Given the description of an element on the screen output the (x, y) to click on. 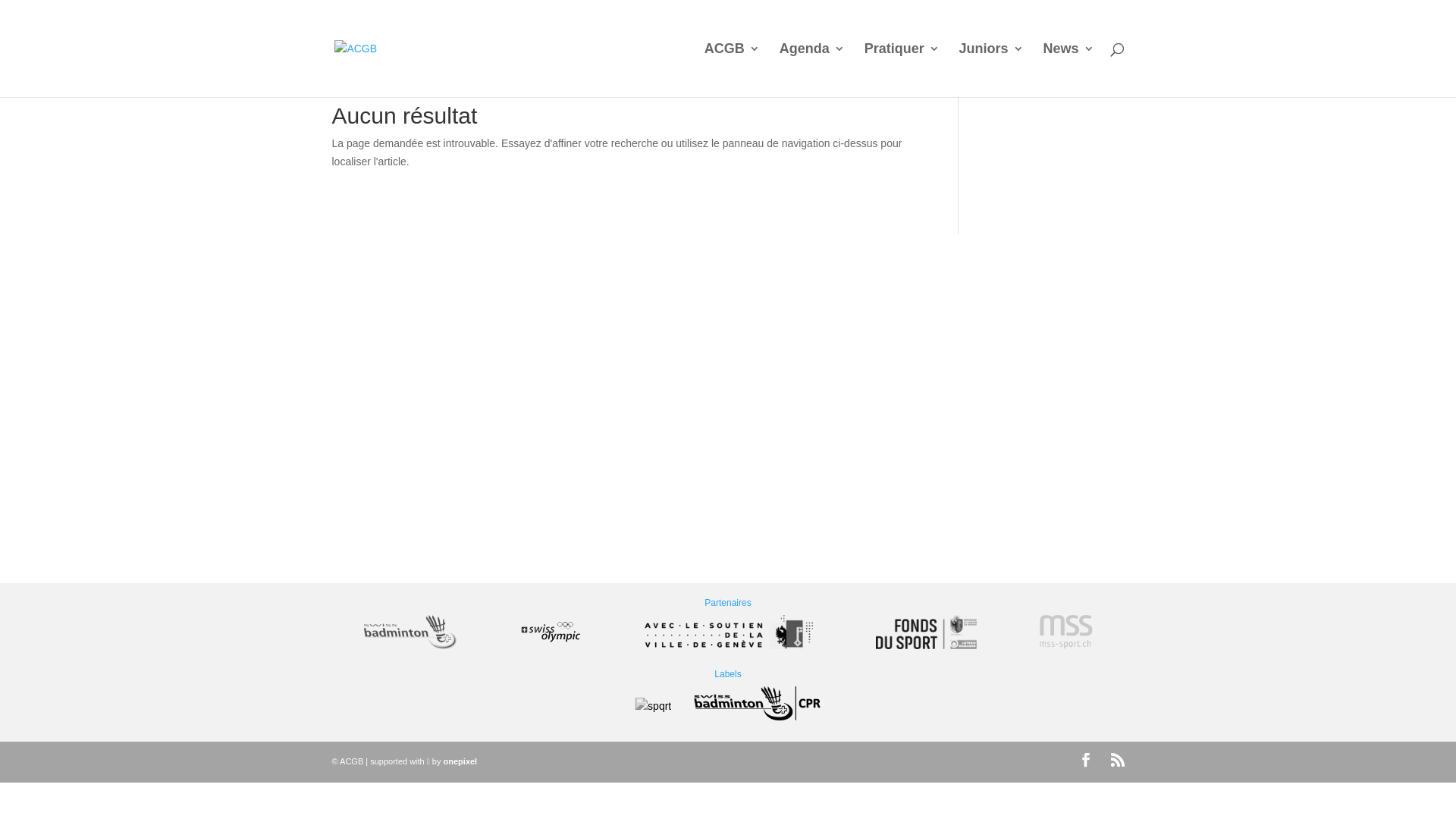
swiss olympic Element type: hover (550, 635)
News Element type: text (1067, 70)
swiss bad cpr Element type: hover (756, 706)
swiss badminton Element type: hover (410, 635)
mss sport Element type: hover (1066, 635)
Fonds du sport Element type: hover (926, 635)
Agenda Element type: text (811, 70)
spqrt Element type: hover (653, 706)
onepixel Element type: text (460, 760)
ACGB Element type: text (731, 70)
Pratiquer Element type: text (901, 70)
Juniors Element type: text (991, 70)
